Given the description of an element on the screen output the (x, y) to click on. 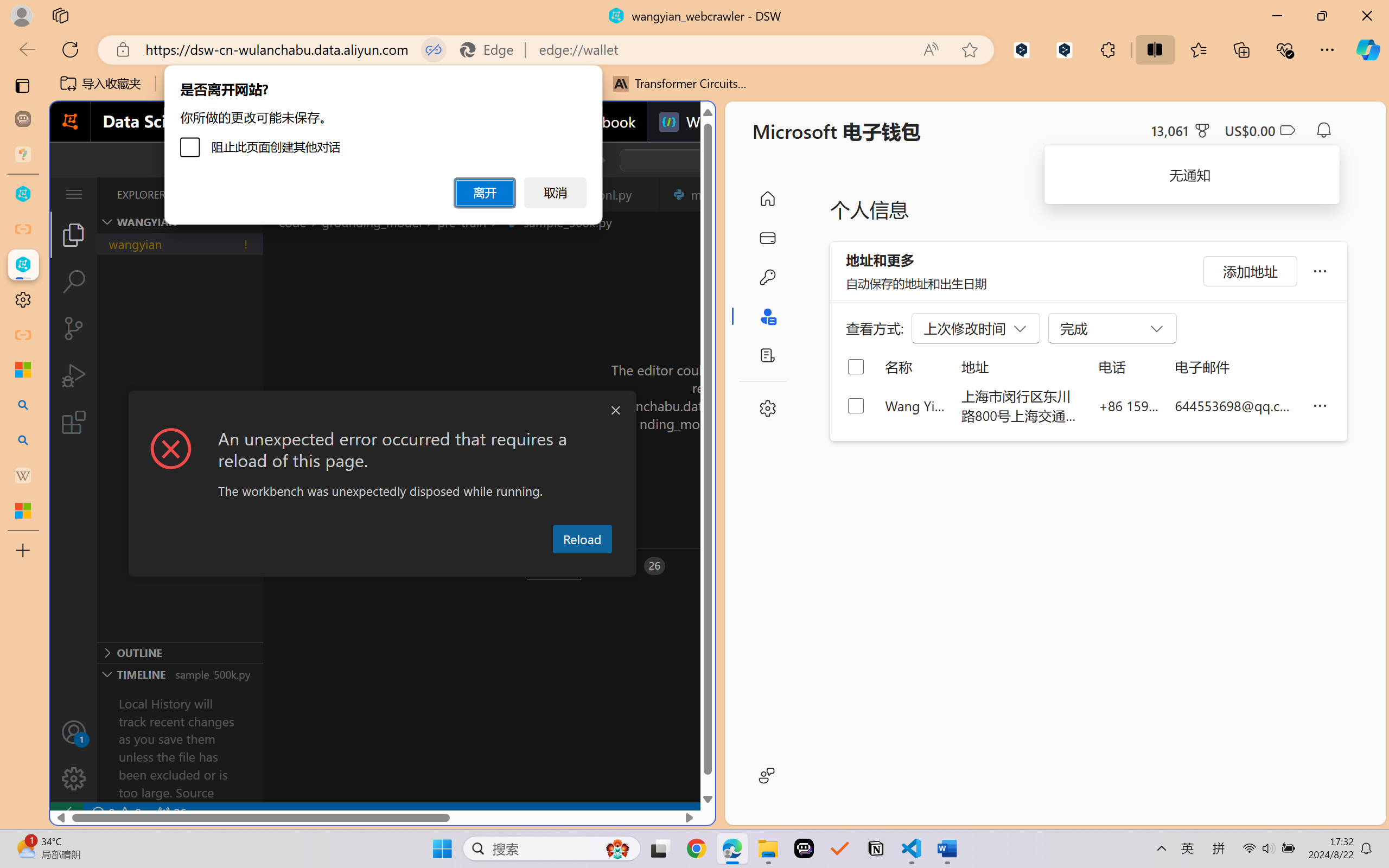
Problems (Ctrl+Shift+M) (308, 565)
Outline Section (179, 652)
